Given the description of an element on the screen output the (x, y) to click on. 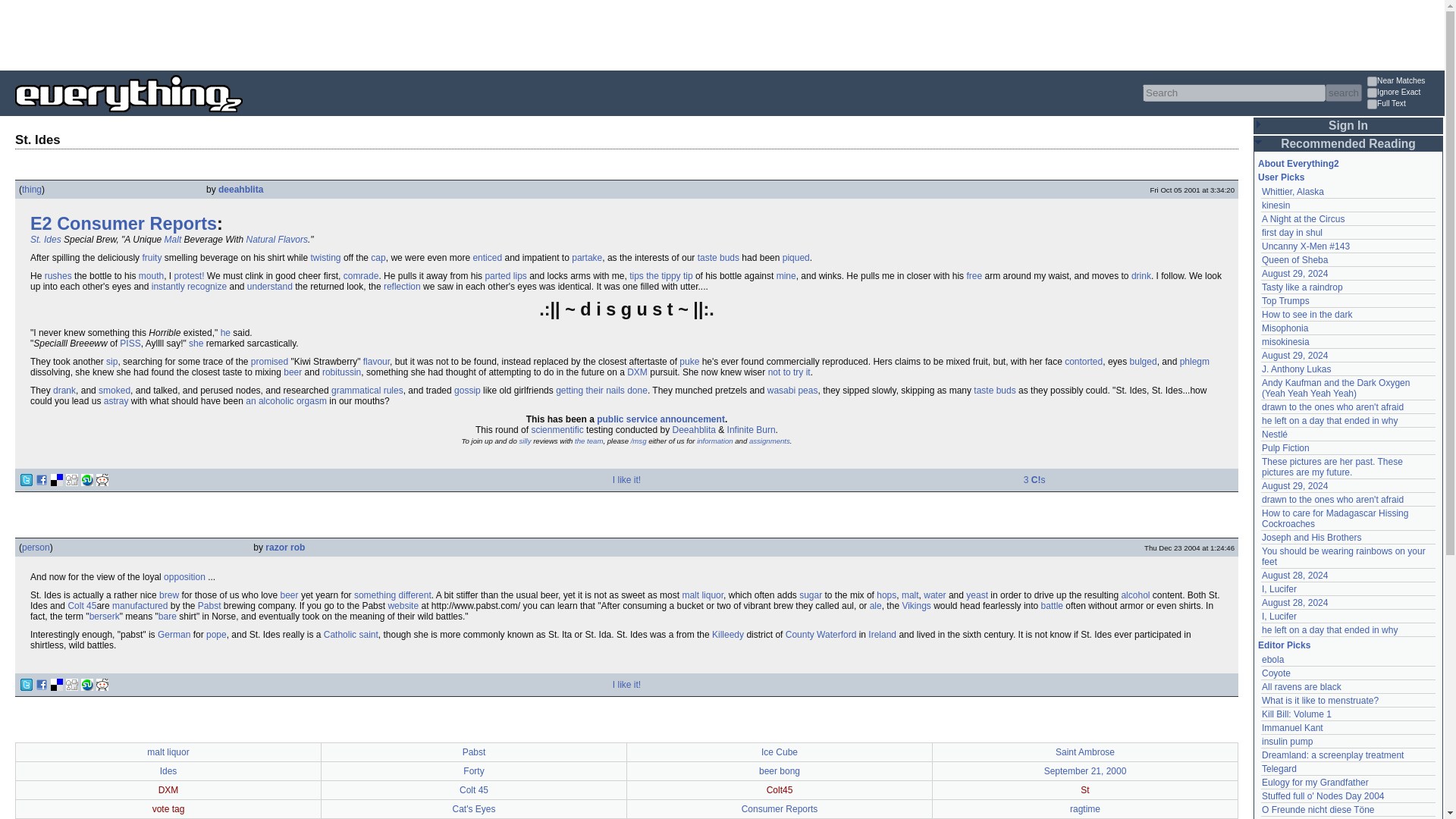
reflection (402, 286)
enticed (486, 257)
1 (1372, 103)
Search within Everything2 (1342, 92)
bulged (1143, 361)
flavour (376, 361)
puke (688, 361)
Flavors (292, 239)
understand (269, 286)
parted lips (504, 276)
